Given the description of an element on the screen output the (x, y) to click on. 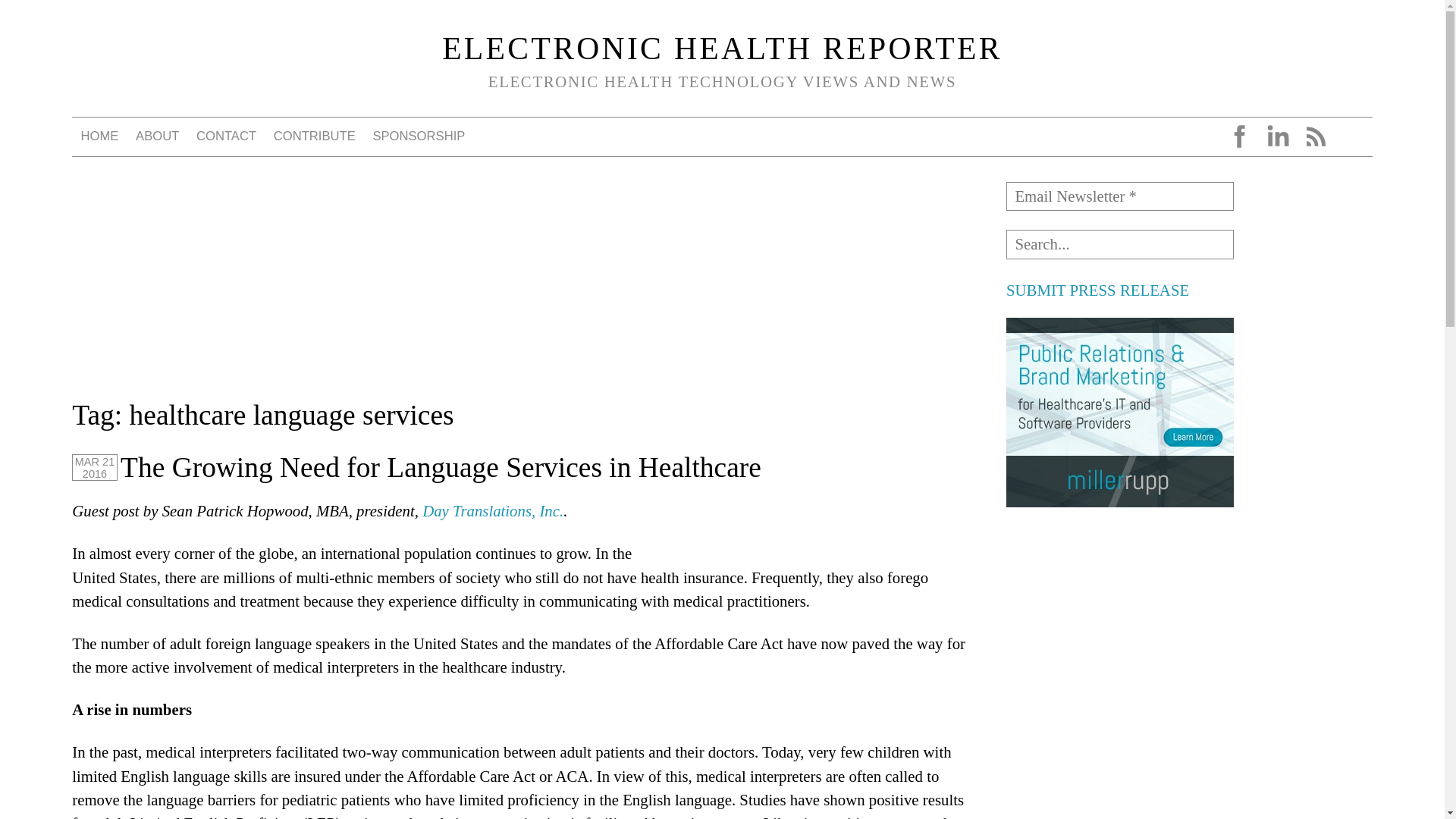
SUBMIT PRESS RELEASE (1097, 289)
SPONSORSHIP (418, 136)
ABOUT (157, 136)
HOME (99, 136)
CONTACT (226, 136)
CONTRIBUTE (313, 136)
Advertisement (1119, 624)
LINKEDIN (1277, 136)
RSS FEED (1315, 136)
ELECTRONIC HEALTH REPORTER (722, 48)
The Growing Need for Language Services in Healthcare (440, 467)
Day Translations, Inc. (492, 510)
Email Newsletter (1119, 195)
FACEBOOK (1239, 136)
Subscribe (48, 16)
